Given the description of an element on the screen output the (x, y) to click on. 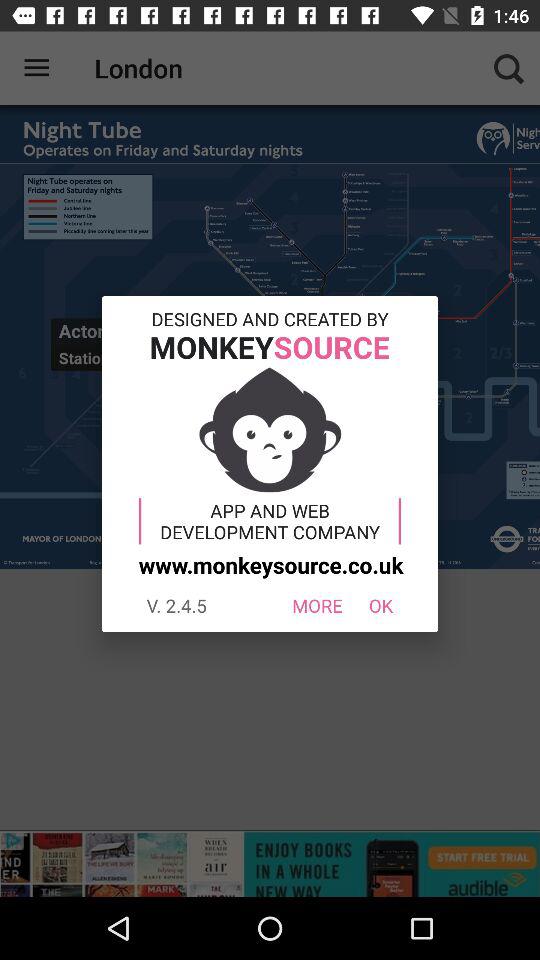
tap the icon below www monkeysource co icon (380, 605)
